Given the description of an element on the screen output the (x, y) to click on. 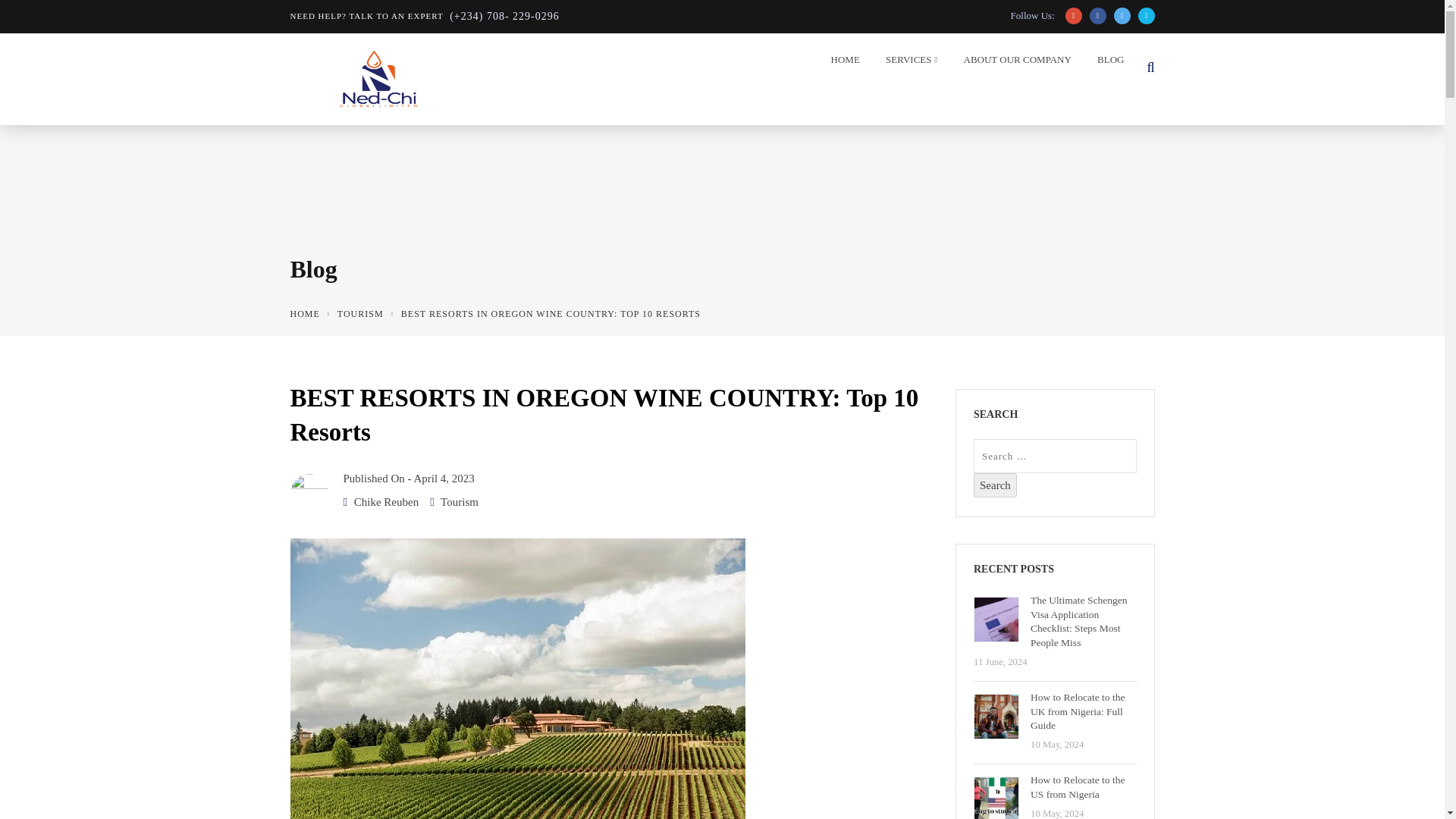
HOME (841, 62)
SERVICES (907, 62)
HOME (303, 313)
Chike Reuben (386, 501)
BLOG (1106, 62)
Tourism (460, 501)
April 4, 2023 (443, 478)
Search (995, 485)
TOURISM (360, 313)
Search (995, 485)
ABOUT OUR COMPANY (1013, 62)
